Given the description of an element on the screen output the (x, y) to click on. 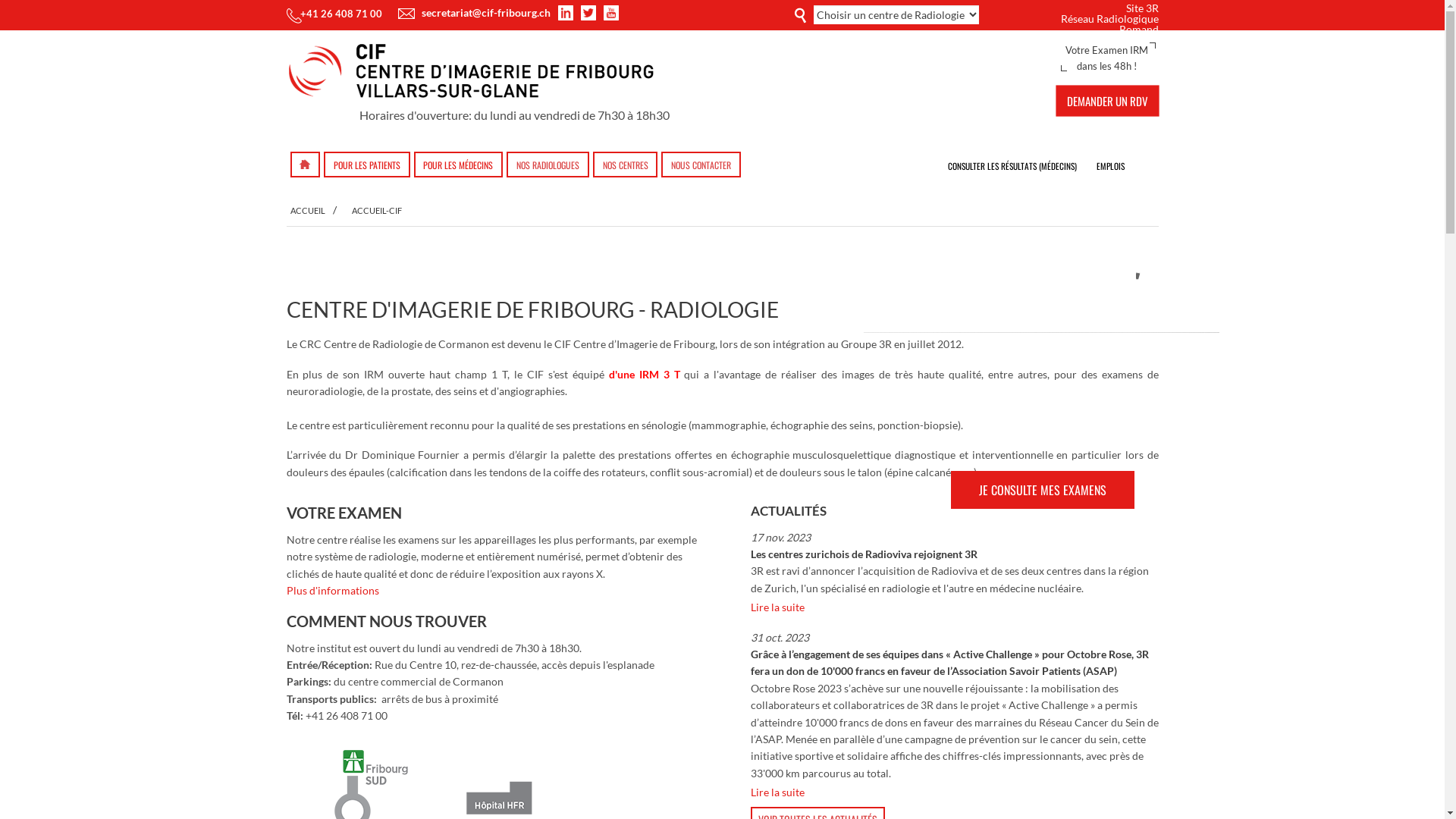
twitter Element type: hover (590, 12)
youtube Element type: hover (610, 12)
LogoCIF Element type: hover (477, 74)
linkedin Element type: hover (567, 12)
